Given the description of an element on the screen output the (x, y) to click on. 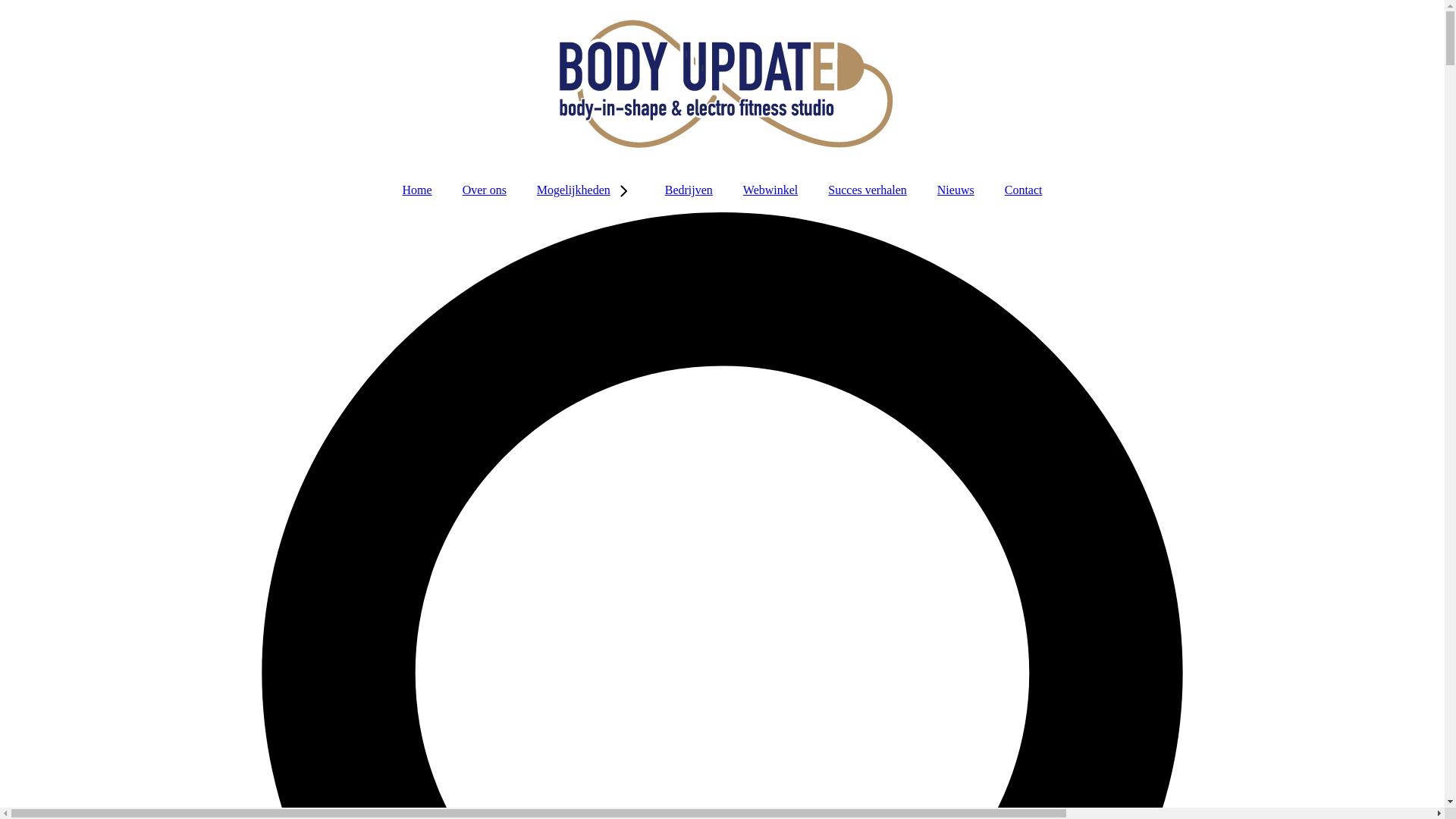
Mogelijkheden Element type: text (585, 190)
Over ons Element type: text (484, 190)
Nieuws Element type: text (955, 190)
Succes verhalen Element type: text (867, 190)
Webwinkel Element type: text (770, 190)
Home Element type: text (417, 190)
Bedrijven Element type: text (688, 190)
Contact Element type: text (1023, 190)
